Given the description of an element on the screen output the (x, y) to click on. 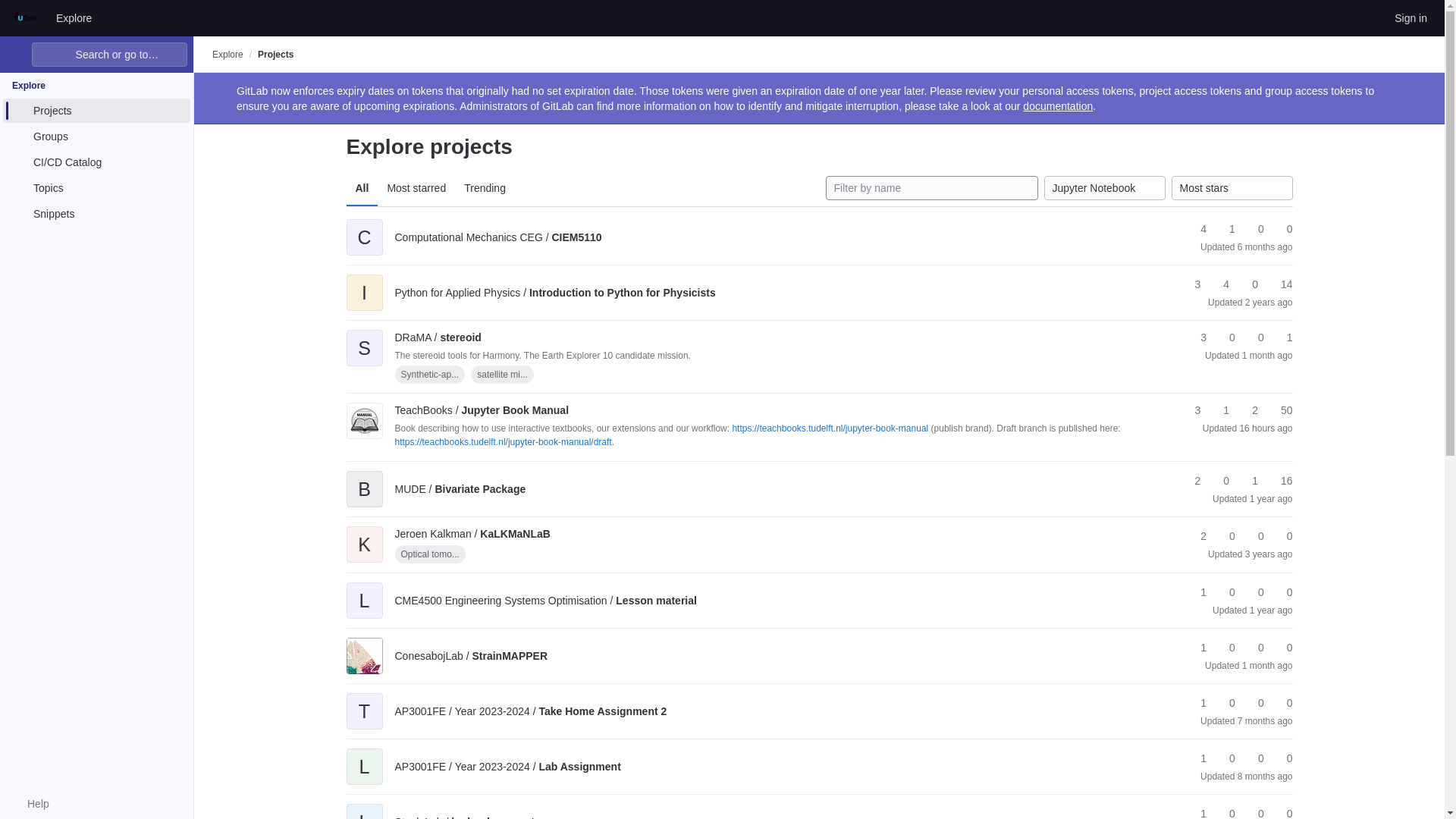
Forks (1224, 229)
Trending (484, 187)
Merge requests (1248, 284)
Most starred (415, 187)
Issues (1279, 284)
Sign in (1410, 17)
Homepage (25, 17)
Snippets (96, 213)
Help (30, 803)
Jupyter Notebook (1103, 187)
Topics (96, 187)
Explore (227, 54)
Merge requests (1253, 229)
documentation (1058, 105)
Explore (73, 17)
